Given the description of an element on the screen output the (x, y) to click on. 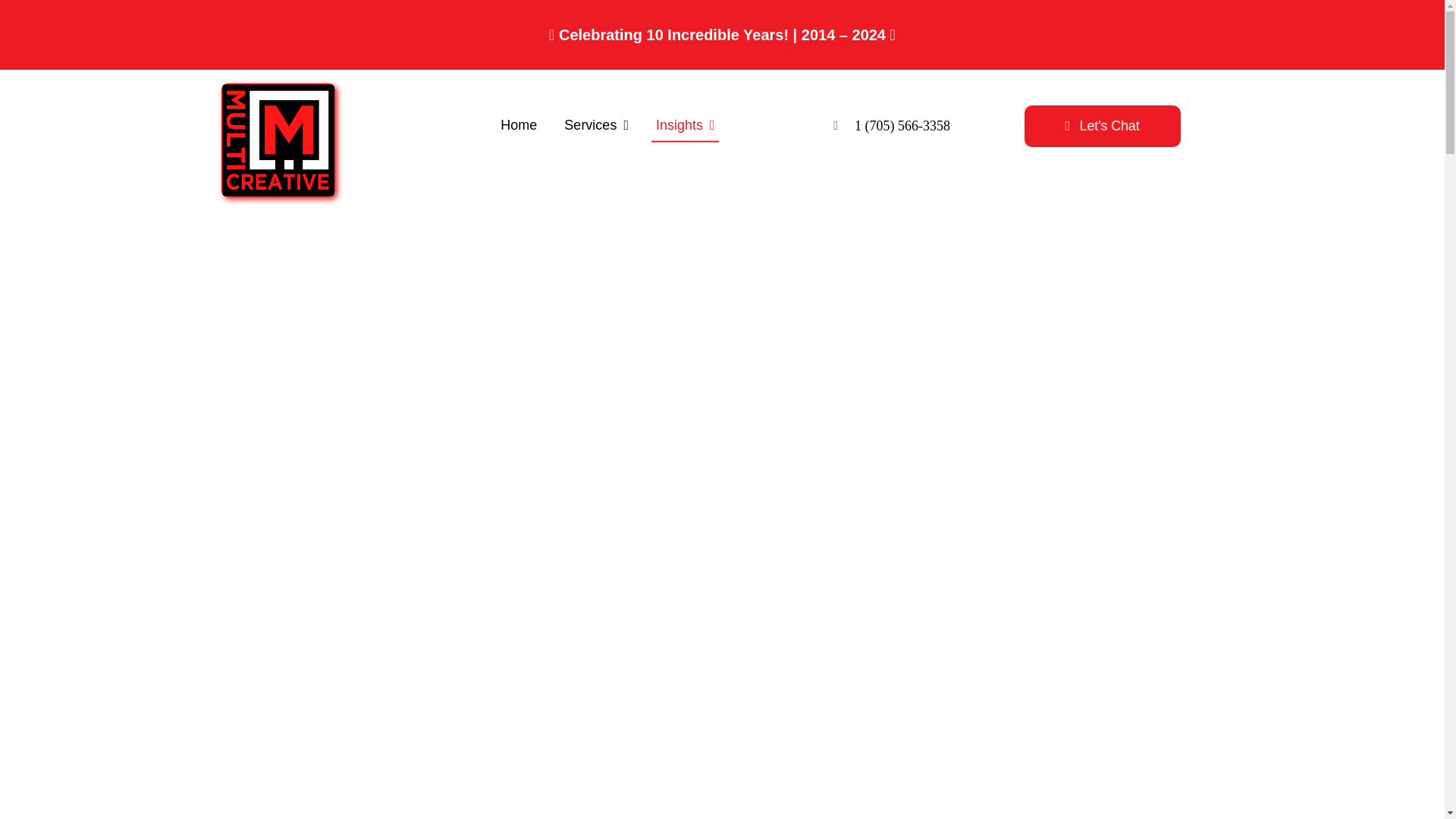
Insights (684, 125)
Services (596, 125)
Home (518, 125)
